Given the description of an element on the screen output the (x, y) to click on. 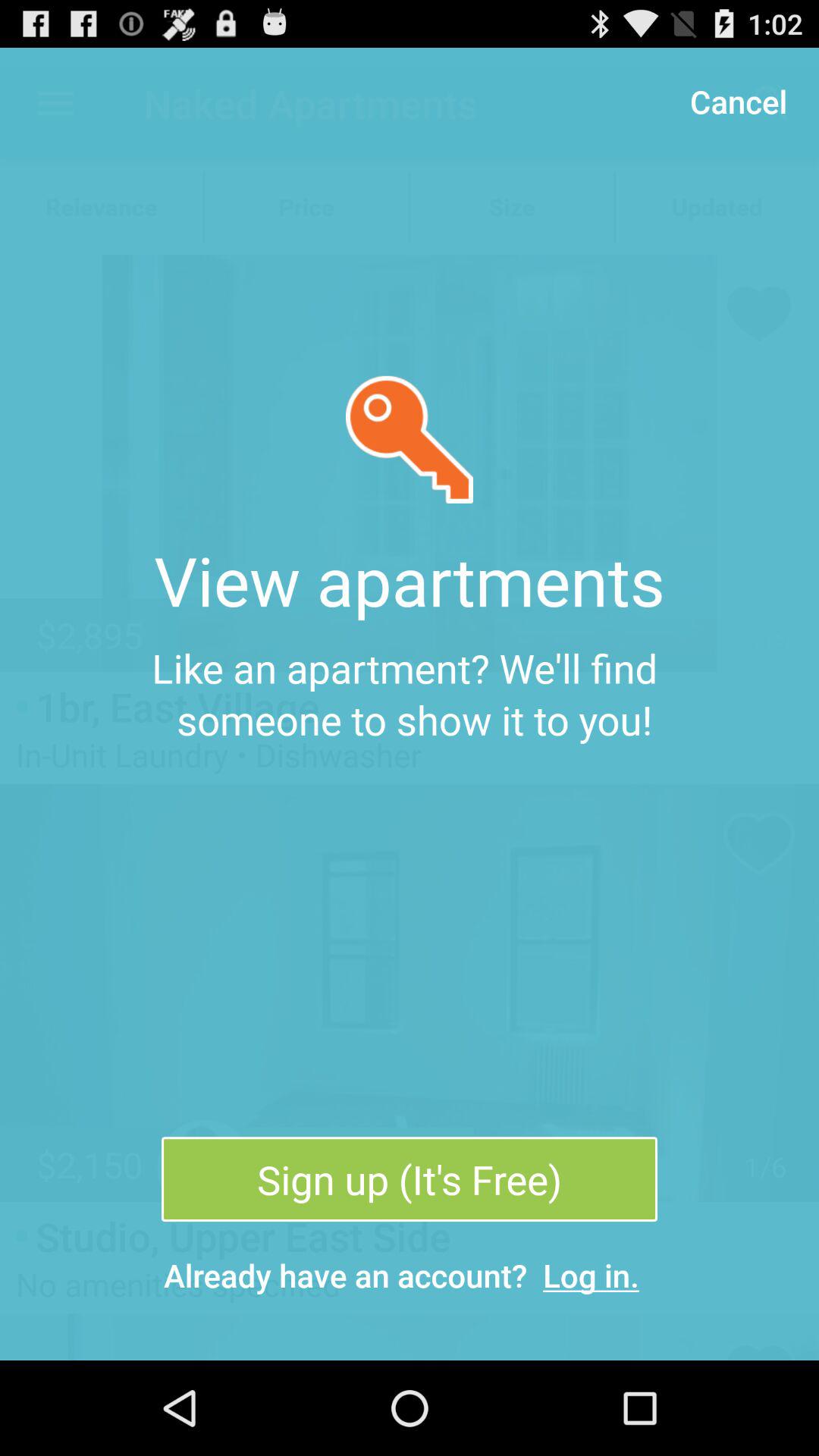
jump to cancel item (738, 100)
